Given the description of an element on the screen output the (x, y) to click on. 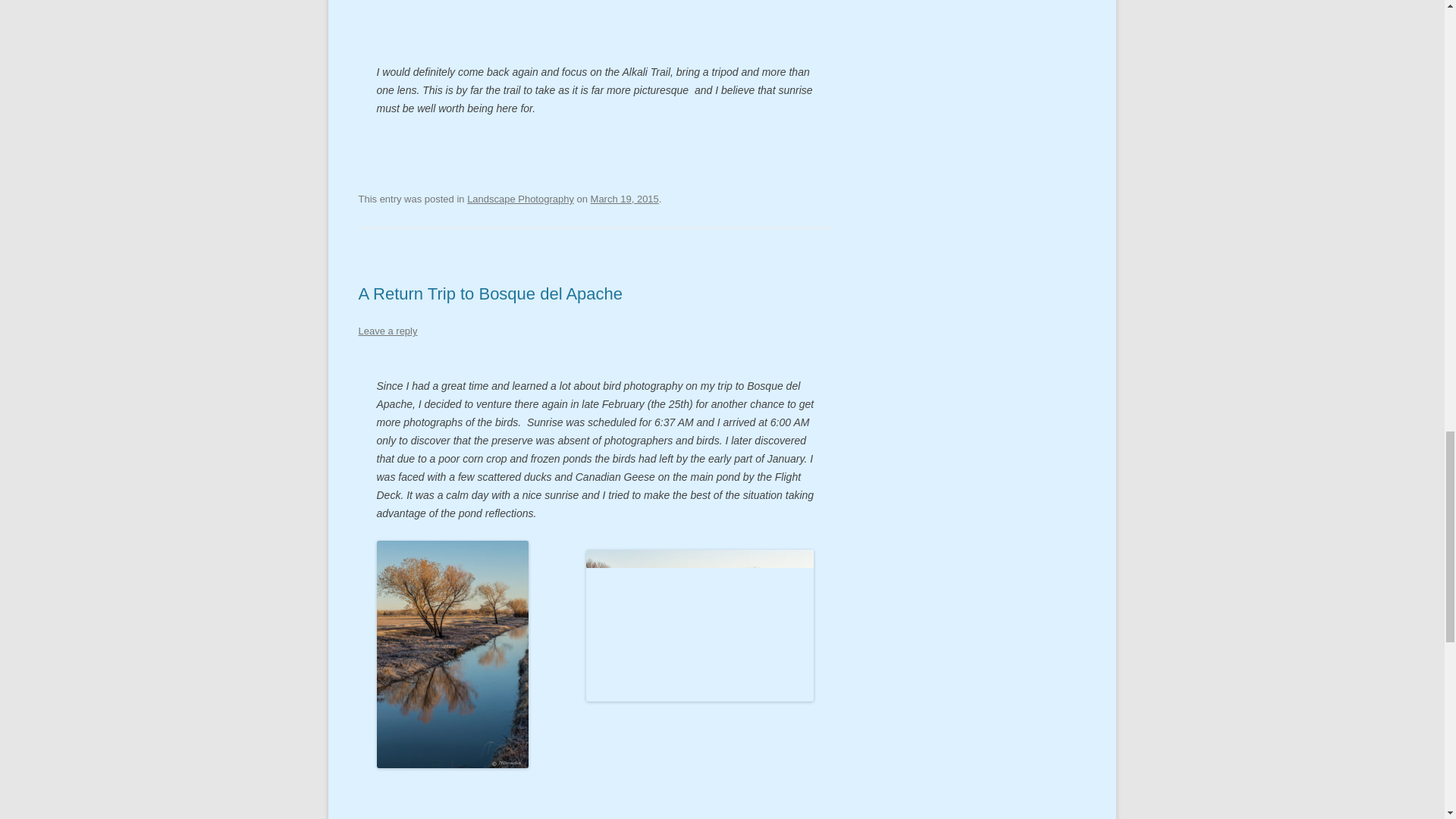
Leave a reply (387, 330)
March 19, 2015 (625, 198)
Landscape Photography (520, 198)
A Return Trip to Bosque del Apache (490, 293)
4:31 PM (625, 198)
